Given the description of an element on the screen output the (x, y) to click on. 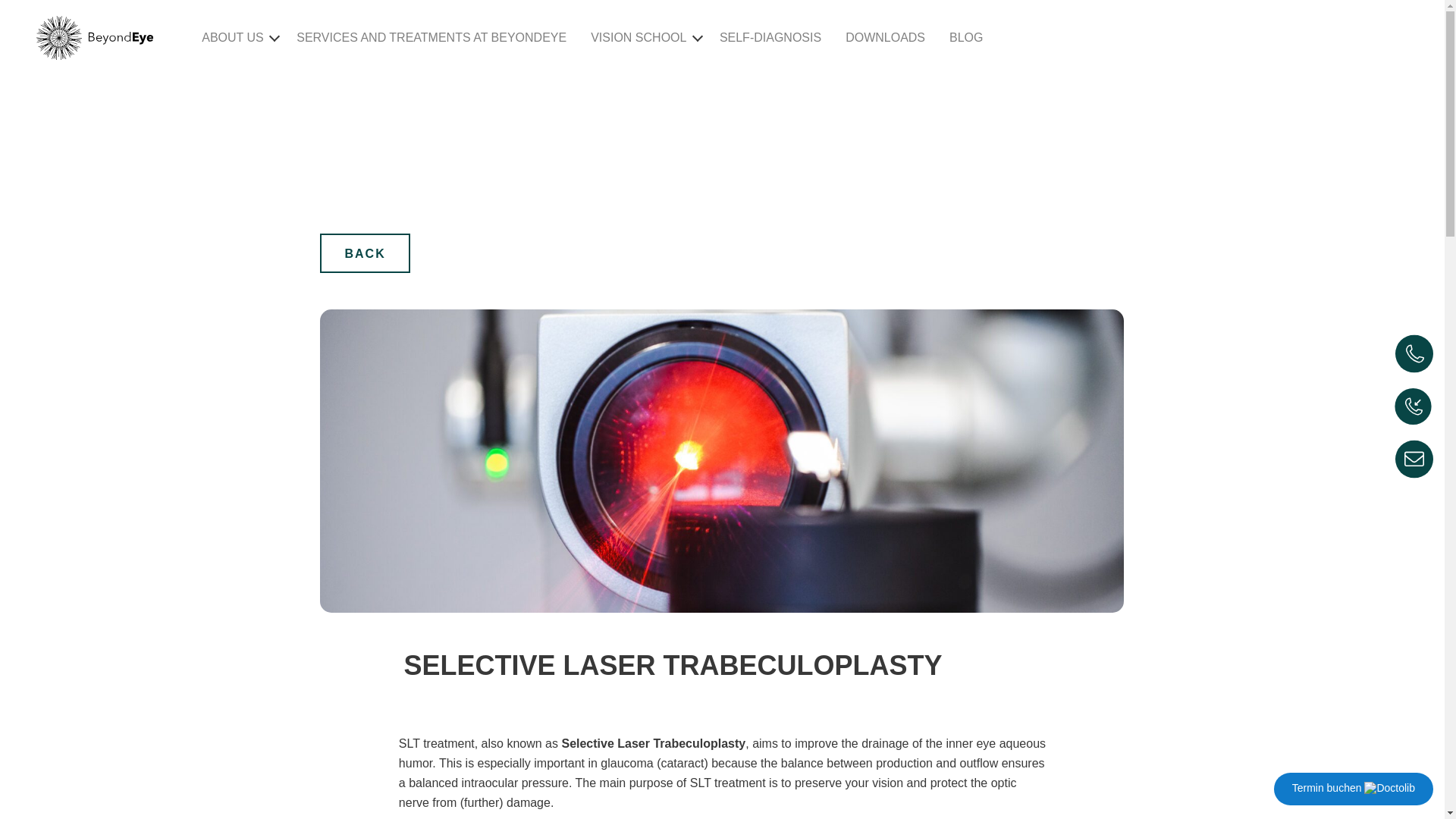
SELF-DIAGNOSIS (770, 38)
DOWNLOADS (885, 38)
SERVICES AND TREATMENTS AT BEYONDEYE (430, 38)
Termin buchen (1353, 789)
VISION SCHOOL (639, 38)
ABOUT US (232, 38)
BACK (364, 252)
